Given the description of an element on the screen output the (x, y) to click on. 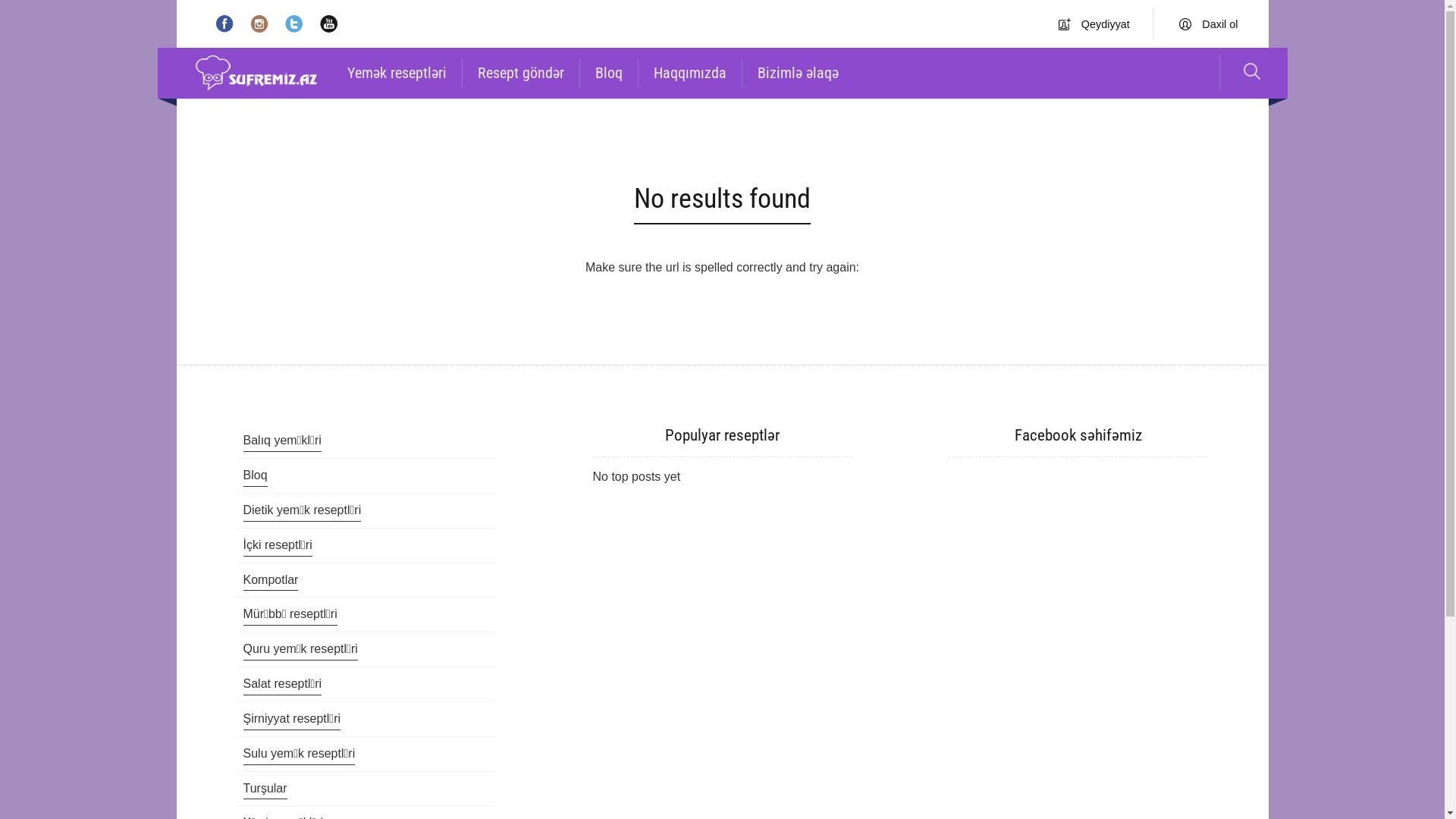
Bloq Element type: text (254, 476)
Qeydiyyat Element type: text (1093, 24)
Kompotlar Element type: text (270, 581)
Daxil ol Element type: text (1208, 24)
Bloq Element type: text (607, 72)
